Given the description of an element on the screen output the (x, y) to click on. 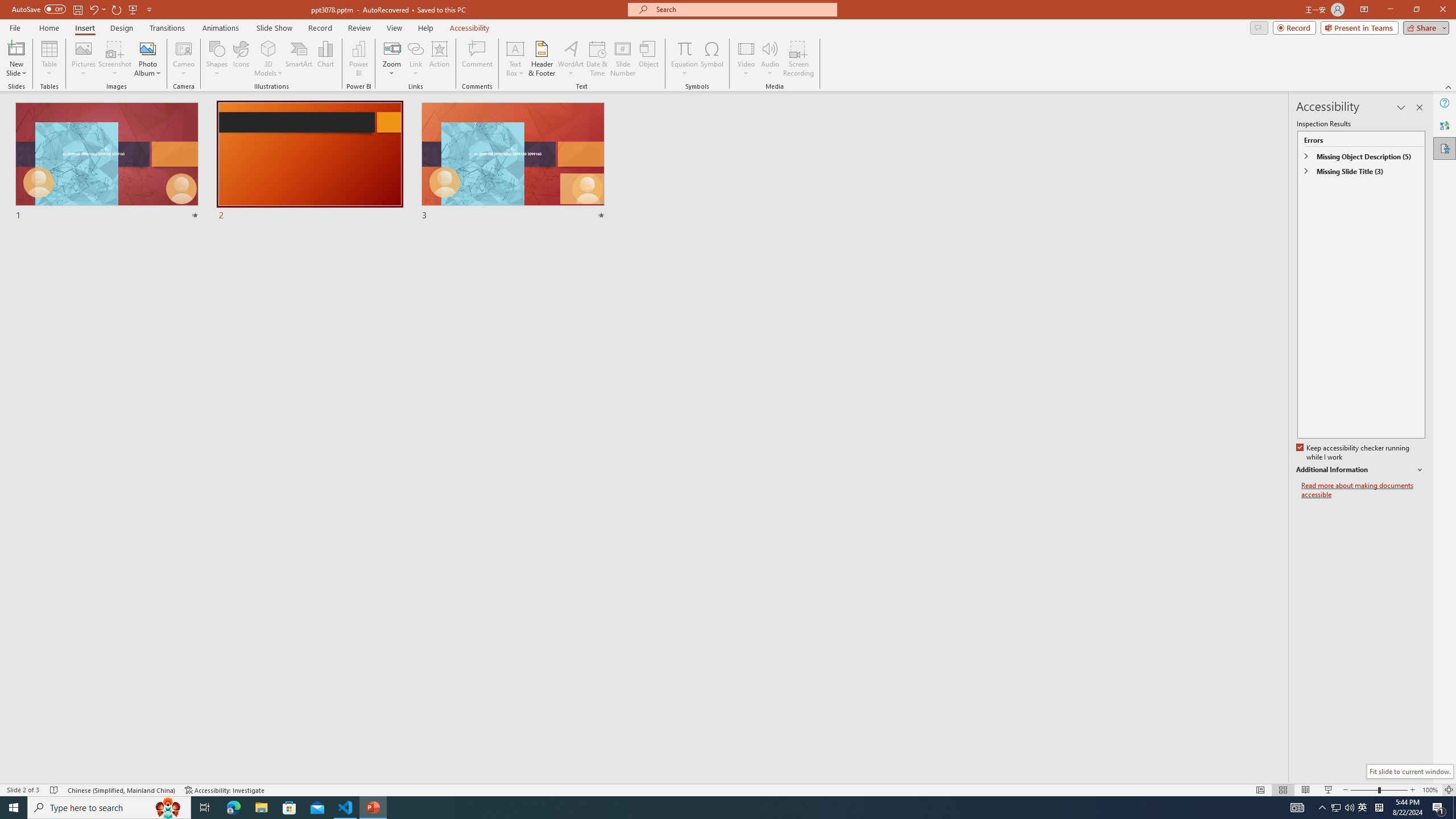
View (395, 28)
Ribbon Display Options (1364, 9)
More Options (683, 68)
Accessibility Checker Accessibility: Investigate (224, 790)
Equation (683, 48)
Animations (220, 28)
Transitions (167, 28)
3D Models (268, 58)
Zoom to Fit  (1449, 790)
Comments (1259, 27)
Video (745, 58)
Pictures (83, 58)
Date & Time... (596, 58)
